Given the description of an element on the screen output the (x, y) to click on. 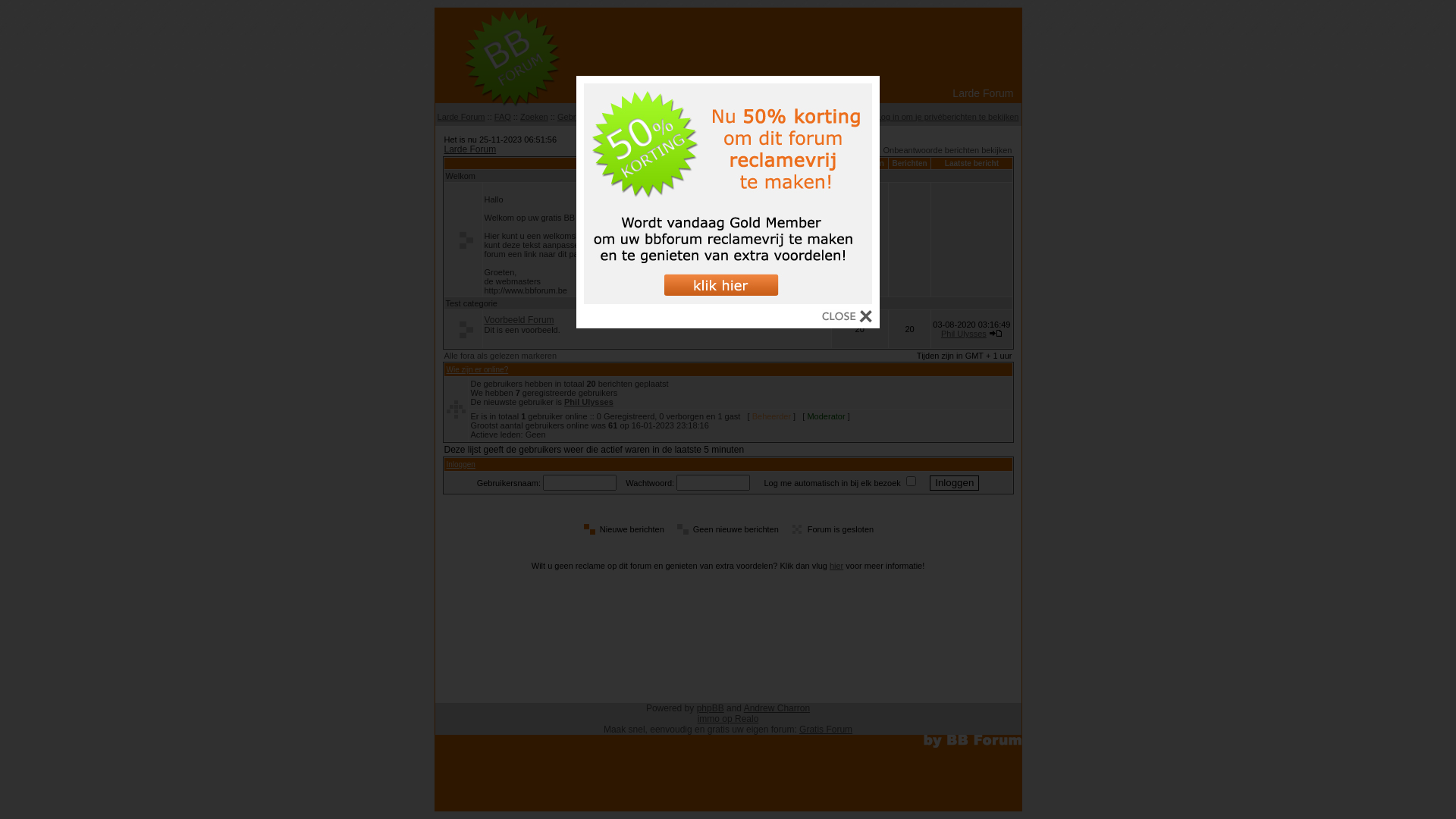
Inloggen Element type: text (459, 464)
Gratis Forum Element type: text (825, 729)
Inloggen Element type: text (818, 116)
Larde Forum Element type: text (470, 149)
Voorbeeld Forum Element type: text (518, 319)
phpBB Element type: text (710, 707)
Phil Ulysses Element type: text (588, 401)
Larde Forum Element type: text (461, 116)
Onbeantwoorde berichten bekijken Element type: text (946, 149)
sluiten Element type: hover (847, 318)
FAQ Element type: text (502, 116)
Gebruikerslijst Element type: text (583, 116)
Laatste bericht bekijken Element type: hover (995, 332)
immo op Realo Element type: text (728, 718)
Andrew Charron Element type: text (776, 707)
Wie zijn er online? Element type: text (476, 369)
Gebruikersgroepen Element type: text (654, 116)
Inloggen Element type: text (954, 481)
klik voor meer informatie Element type: hover (727, 299)
Registreren Element type: text (771, 116)
Geen nieuwe berichten Element type: hover (462, 329)
Profiel Element type: text (854, 116)
hier Element type: text (836, 565)
Zoeken Element type: text (534, 116)
Phil Ulysses Element type: text (963, 333)
Alle fora als gelezen markeren Element type: text (500, 355)
